Given the description of an element on the screen output the (x, y) to click on. 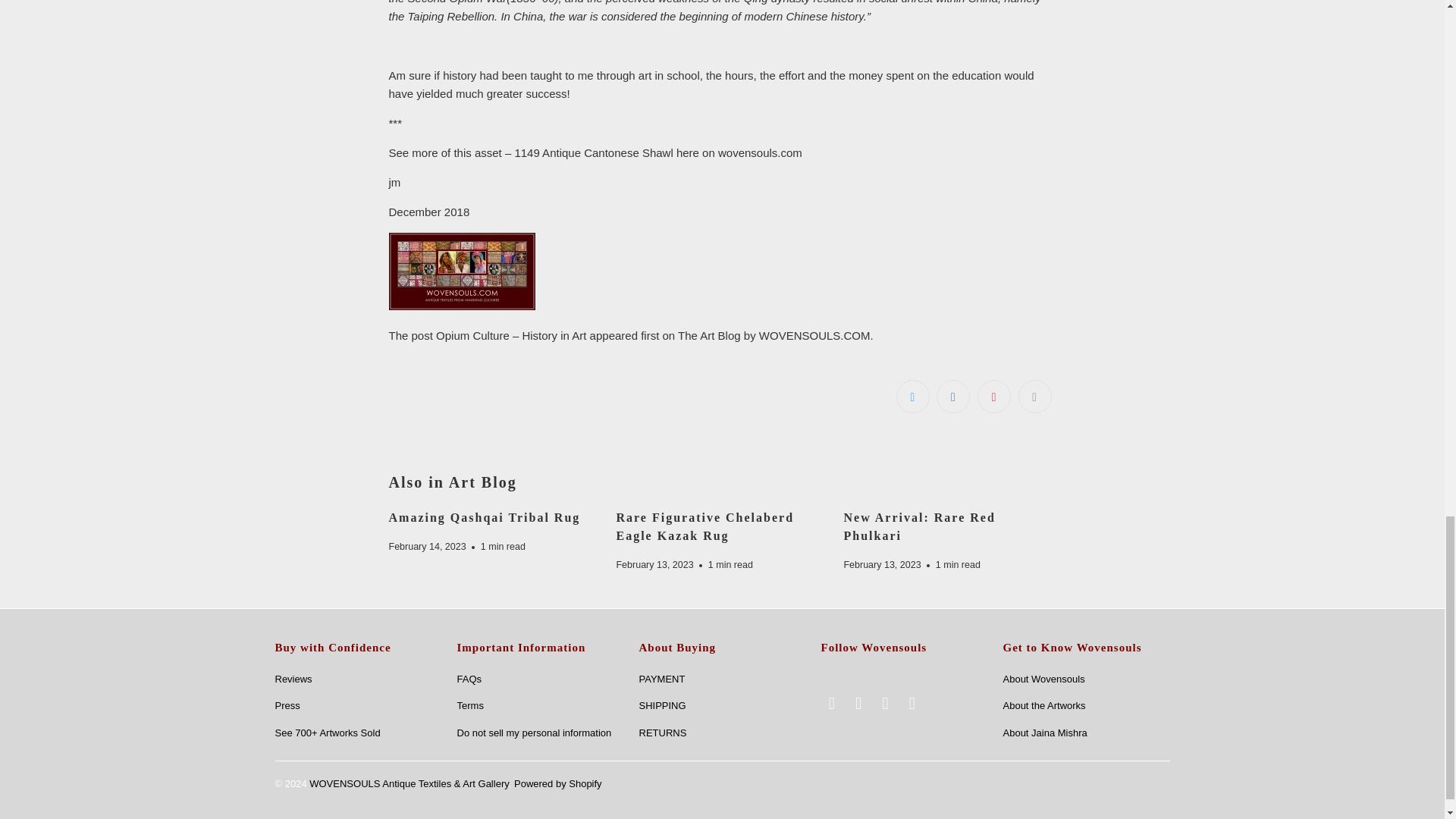
Share this on Twitter (913, 396)
Share this on Pinterest (993, 396)
Share this on Facebook (952, 396)
